Given the description of an element on the screen output the (x, y) to click on. 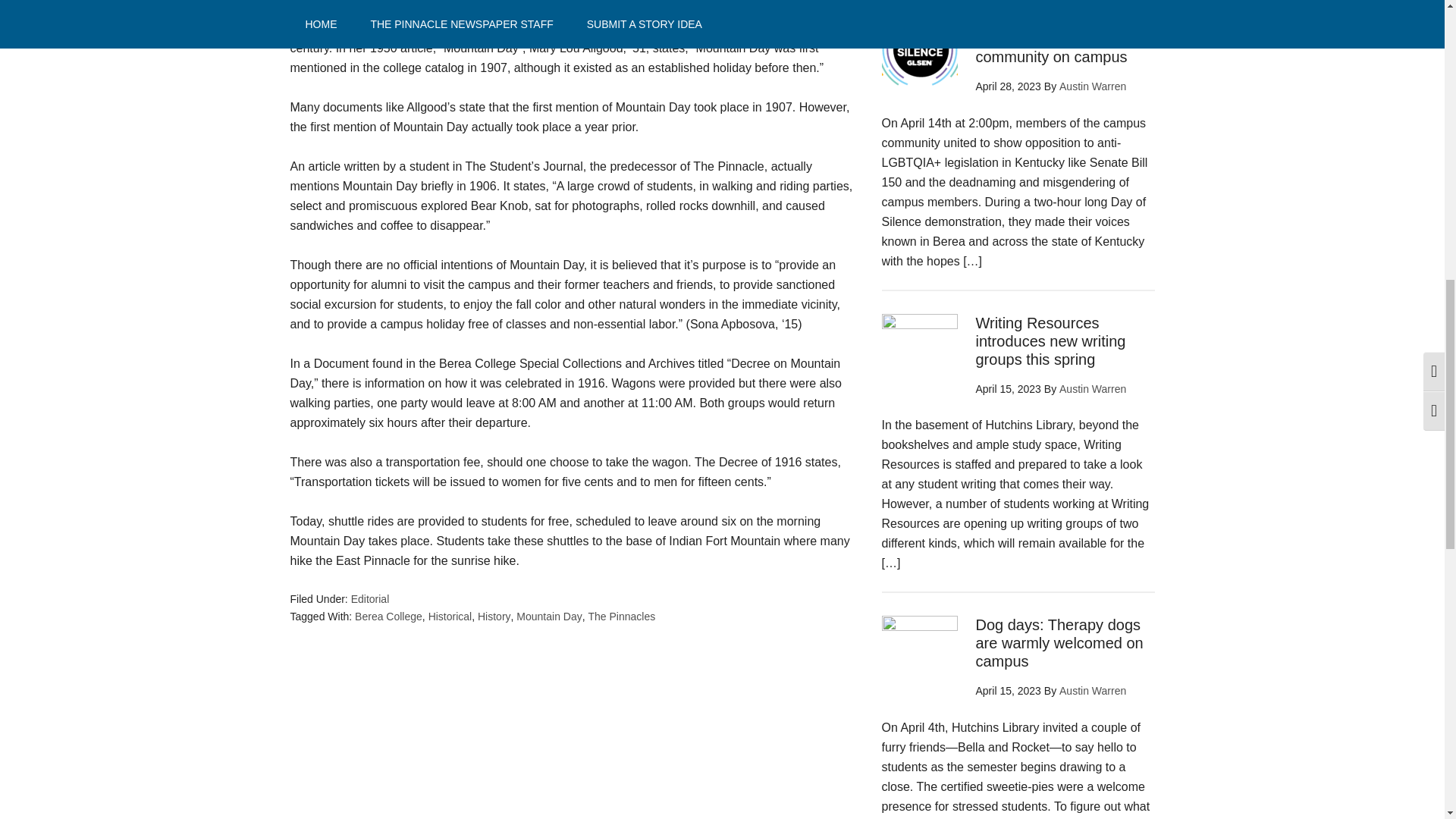
Editorial (370, 598)
Day of Silence demonstration creates community on campus (1050, 38)
Austin Warren (1092, 388)
Historical (449, 616)
Mountain Day (548, 616)
The Pinnacles (622, 616)
Writing Resources introduces new writing groups this spring (1050, 340)
Austin Warren (1092, 86)
History (494, 616)
Berea College (388, 616)
